Given the description of an element on the screen output the (x, y) to click on. 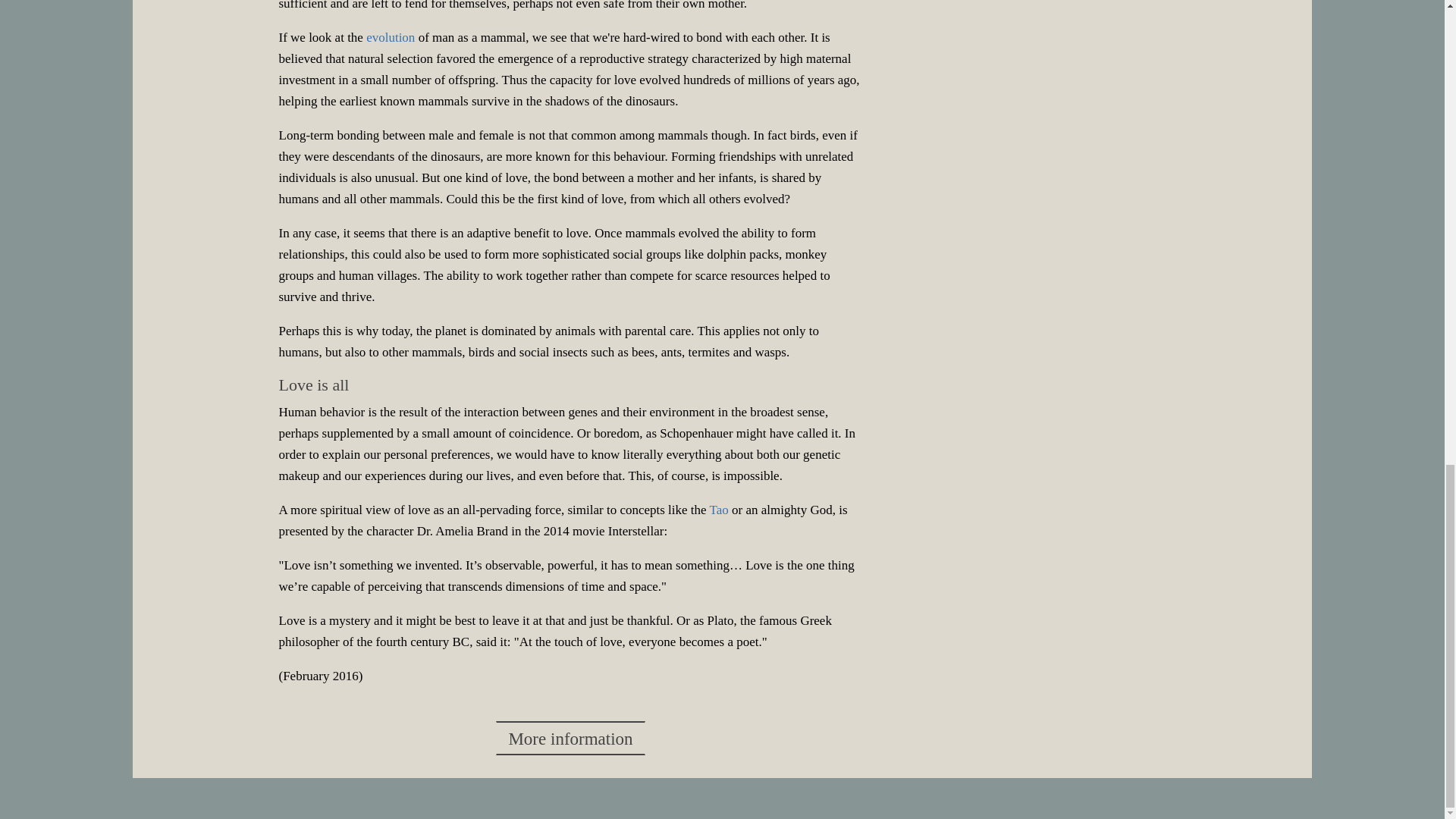
More information (570, 738)
evolution (390, 37)
Tao (719, 509)
